Given the description of an element on the screen output the (x, y) to click on. 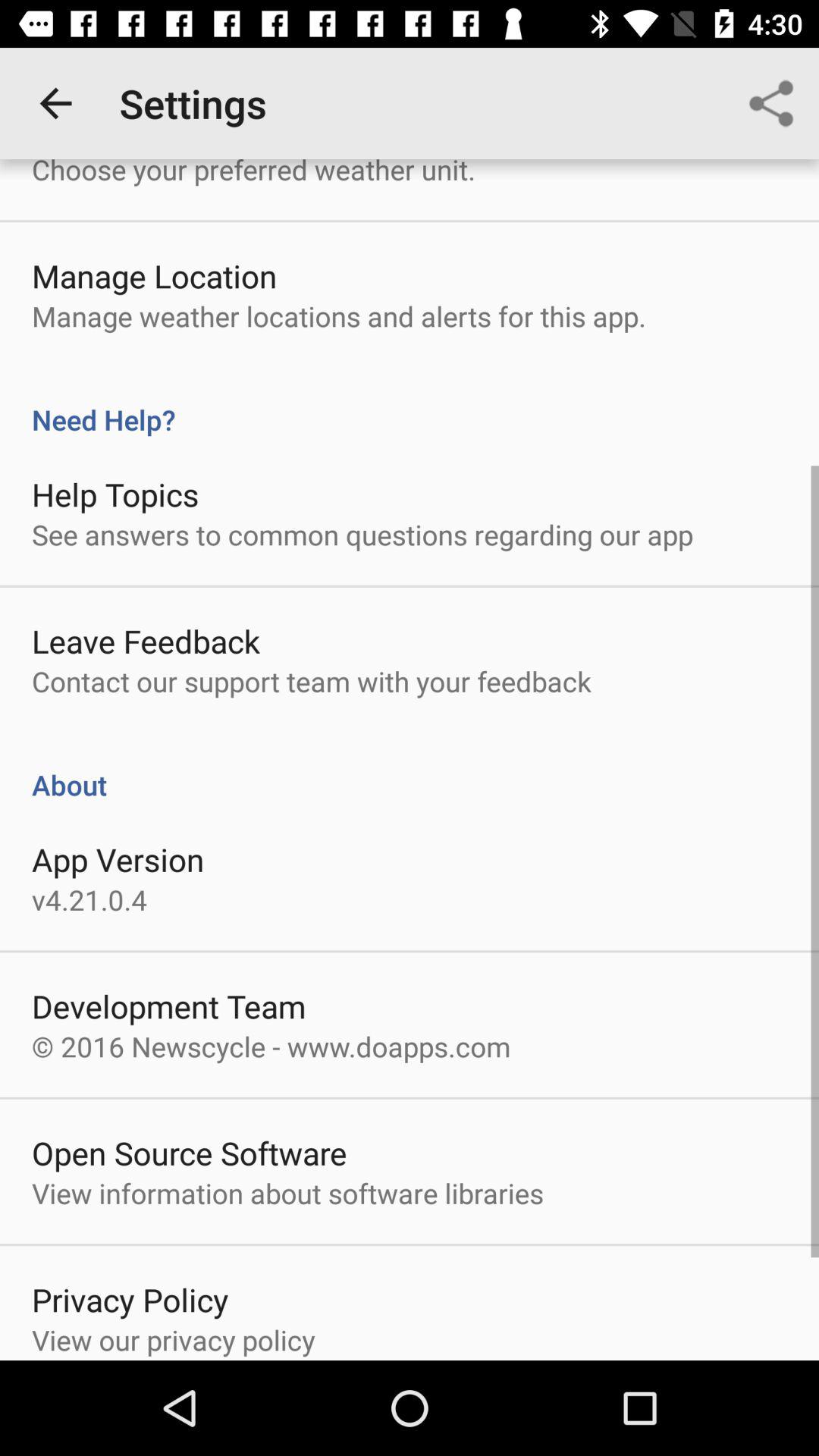
press the item to the left of the settings  app (55, 103)
